Given the description of an element on the screen output the (x, y) to click on. 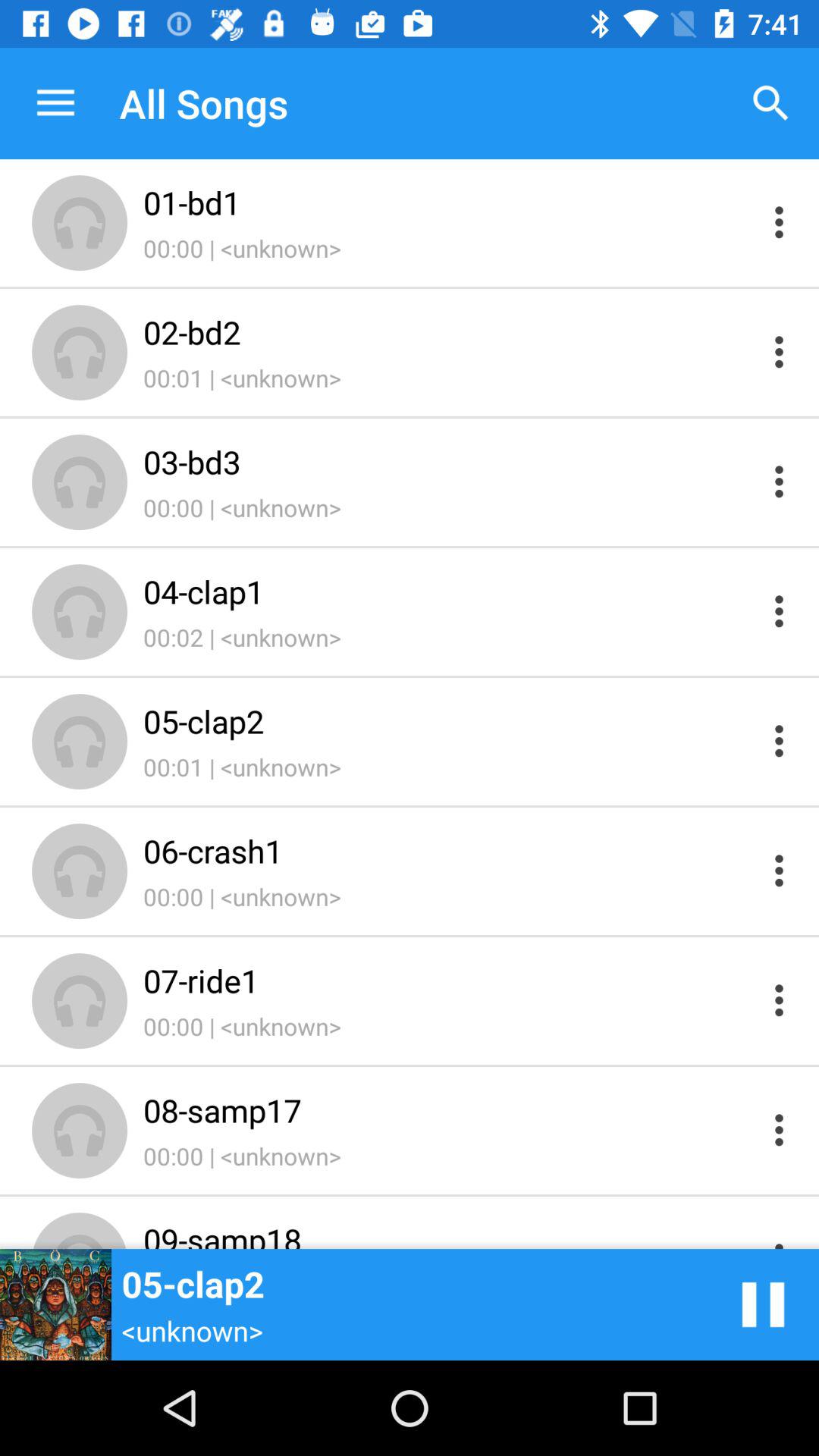
organization and song titles by artist (779, 351)
